Given the description of an element on the screen output the (x, y) to click on. 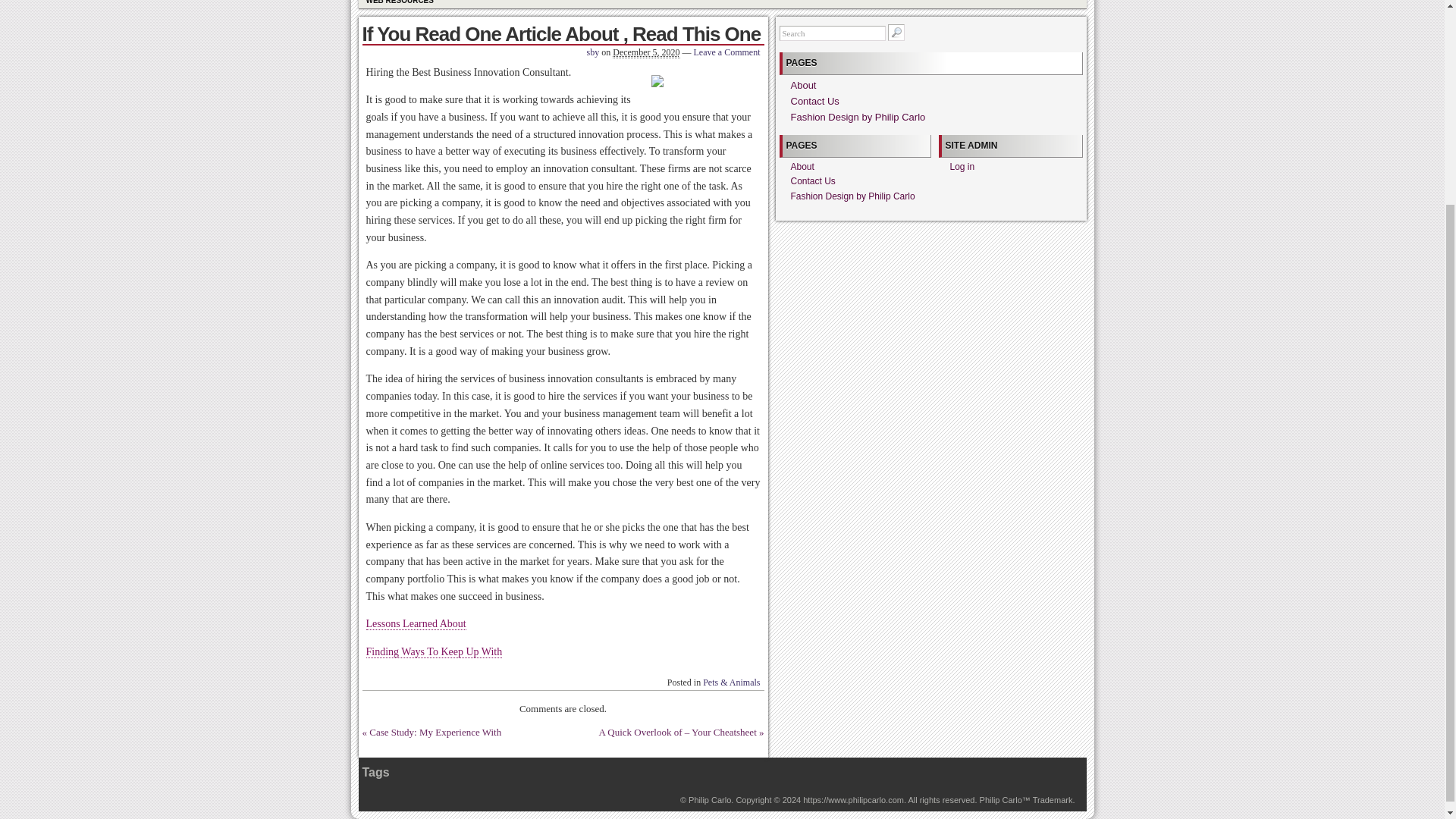
Fashion Design by Philip Carlo (857, 116)
Finding Ways To Keep Up With (433, 652)
About (802, 84)
Search (831, 32)
WEB RESOURCES (399, 4)
About (801, 166)
December 5, 2020 - 1:14 am (645, 52)
Contact Us (814, 101)
View all posts by sby (592, 51)
Fashion Design by Philip Carlo (709, 799)
Case Study: My Experience With (434, 731)
sby (592, 51)
Lessons Learned About (415, 623)
Leave a Comment (727, 51)
